Given the description of an element on the screen output the (x, y) to click on. 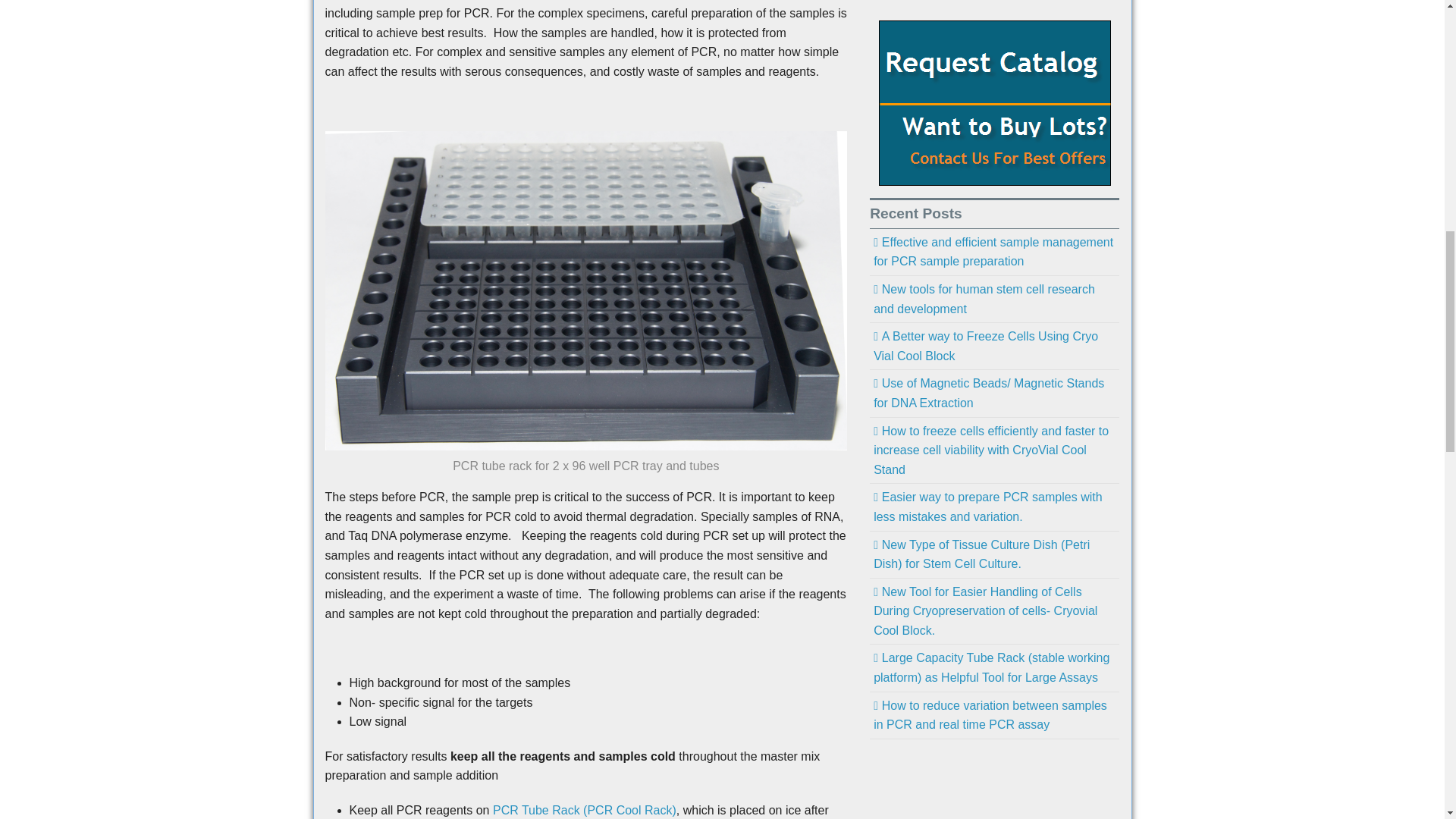
A Better way to Freeze Cells Using Cryo Vial Cool Block (994, 346)
New tools for human stem cell research and development (994, 299)
